Given the description of an element on the screen output the (x, y) to click on. 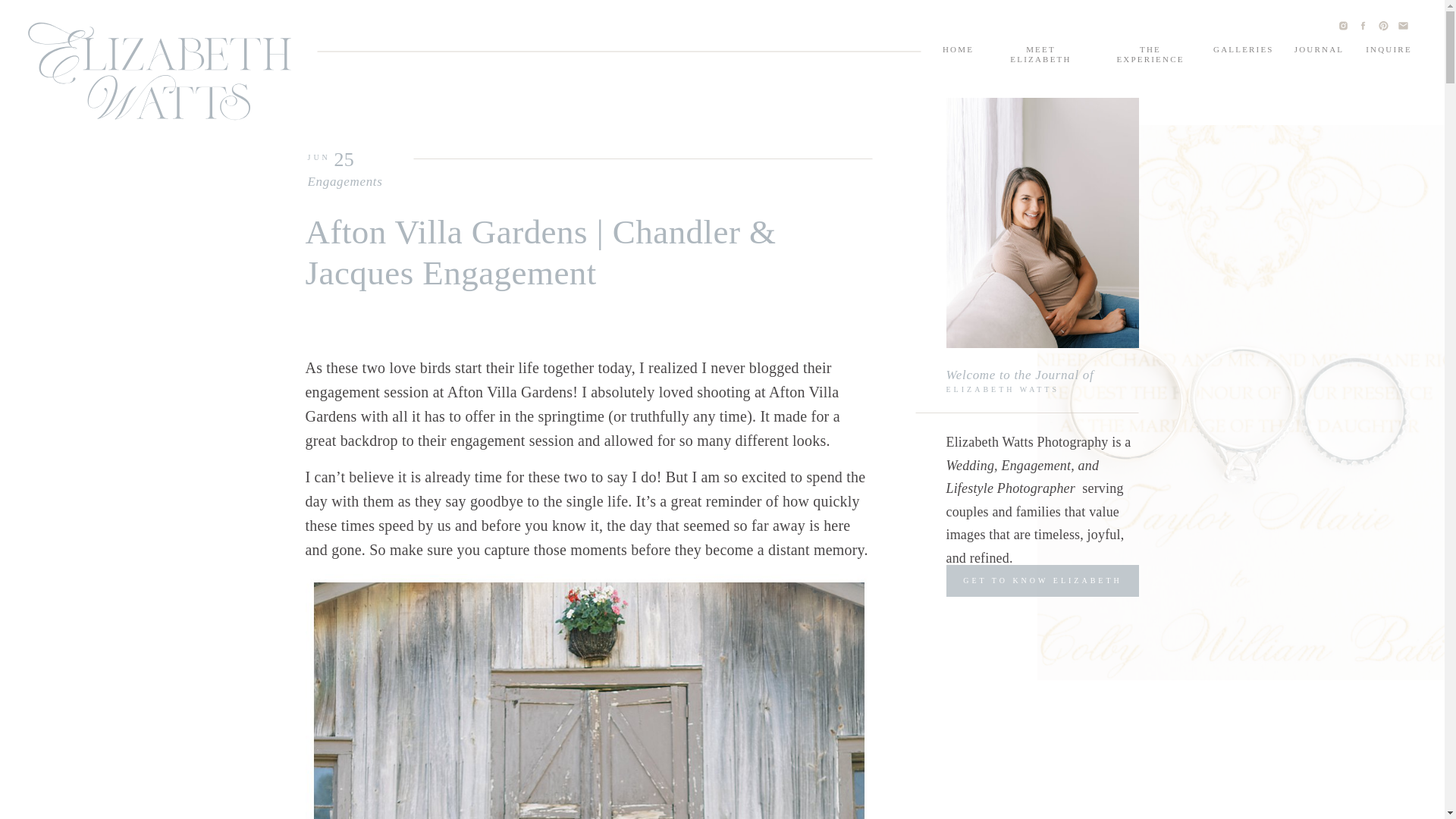
MEET ELIZABETH (1040, 51)
HOME (957, 51)
THE EXPERIENCE (1150, 51)
GALLERIES (1242, 51)
Engagements (344, 181)
INQUIRE (1388, 51)
GET TO KNOW ELIZABETH (1041, 581)
JOURNAL (1318, 51)
